Given the description of an element on the screen output the (x, y) to click on. 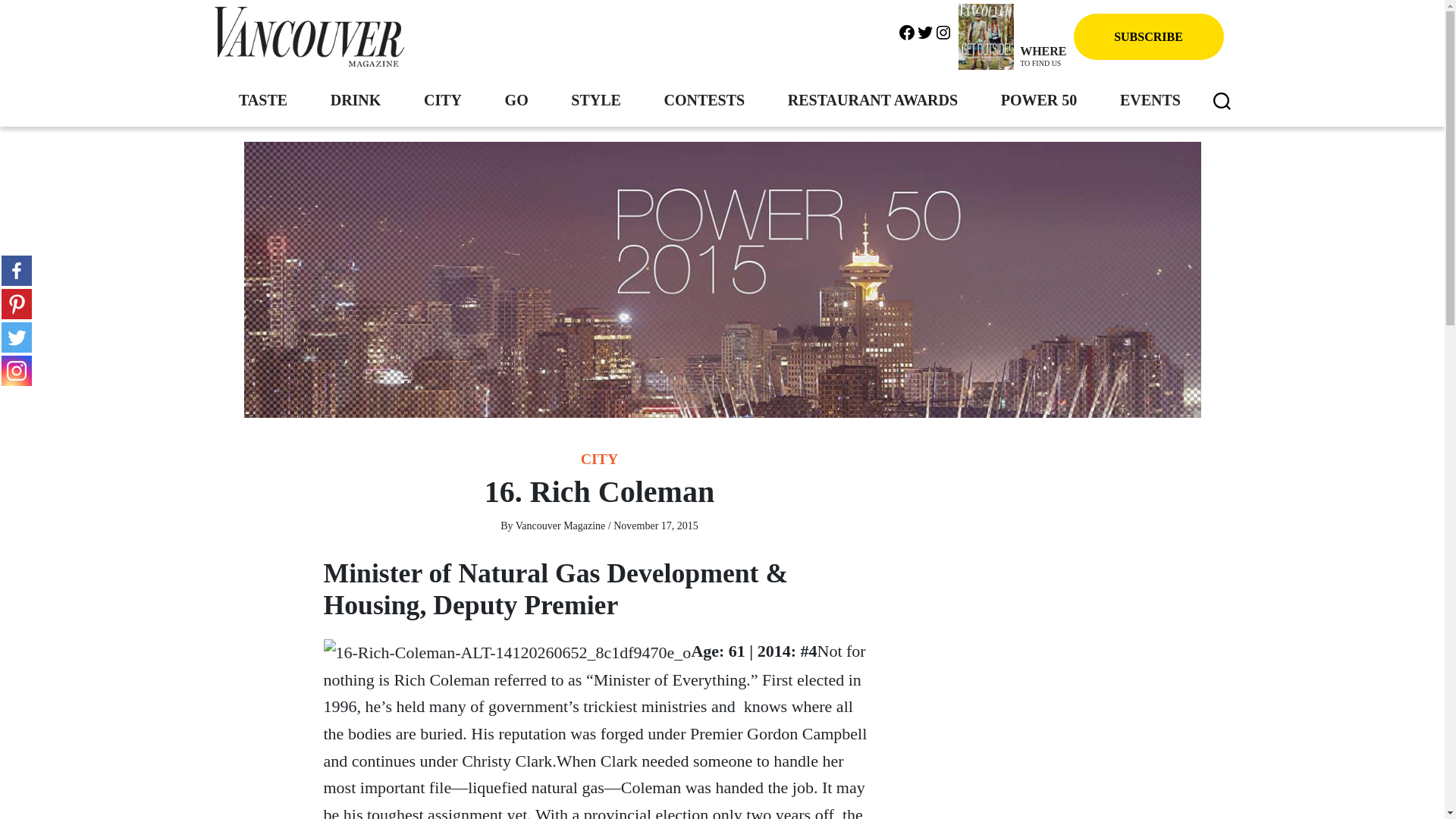
DRINK (355, 99)
TASTE (262, 99)
Facebook (16, 270)
SUBSCRIBE (1147, 36)
Instagram (943, 30)
Facebook (906, 30)
Instagram (16, 370)
Twitter (16, 337)
Twitter (924, 30)
CITY (1039, 57)
Pinterest (442, 99)
